Given the description of an element on the screen output the (x, y) to click on. 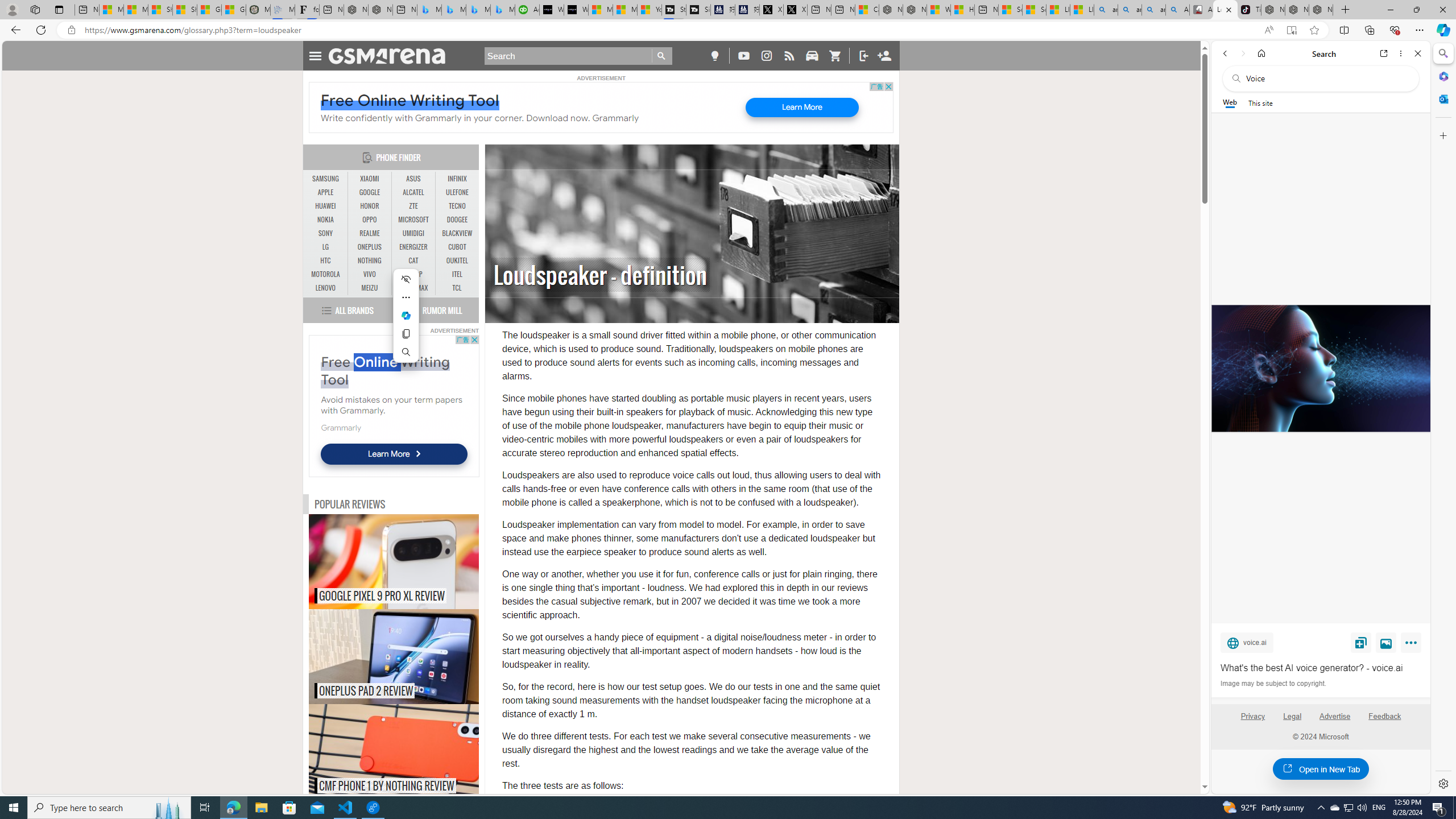
Google Pixel 9 Pro XL review GOOGLE PIXEL 9 PRO XL REVIEW (393, 561)
NOKIA (325, 219)
REALME (369, 233)
Open in New Tab (1321, 768)
HTC (325, 260)
CMF Phone 1 by Nothing review (417, 751)
BLACKVIEW (457, 233)
UMIDIGI (413, 233)
Legal (1292, 720)
Nordace - Best Sellers (1273, 9)
What's the best AI voice generator? - voice.ai (575, 9)
UMIDIGI (413, 233)
